Given the description of an element on the screen output the (x, y) to click on. 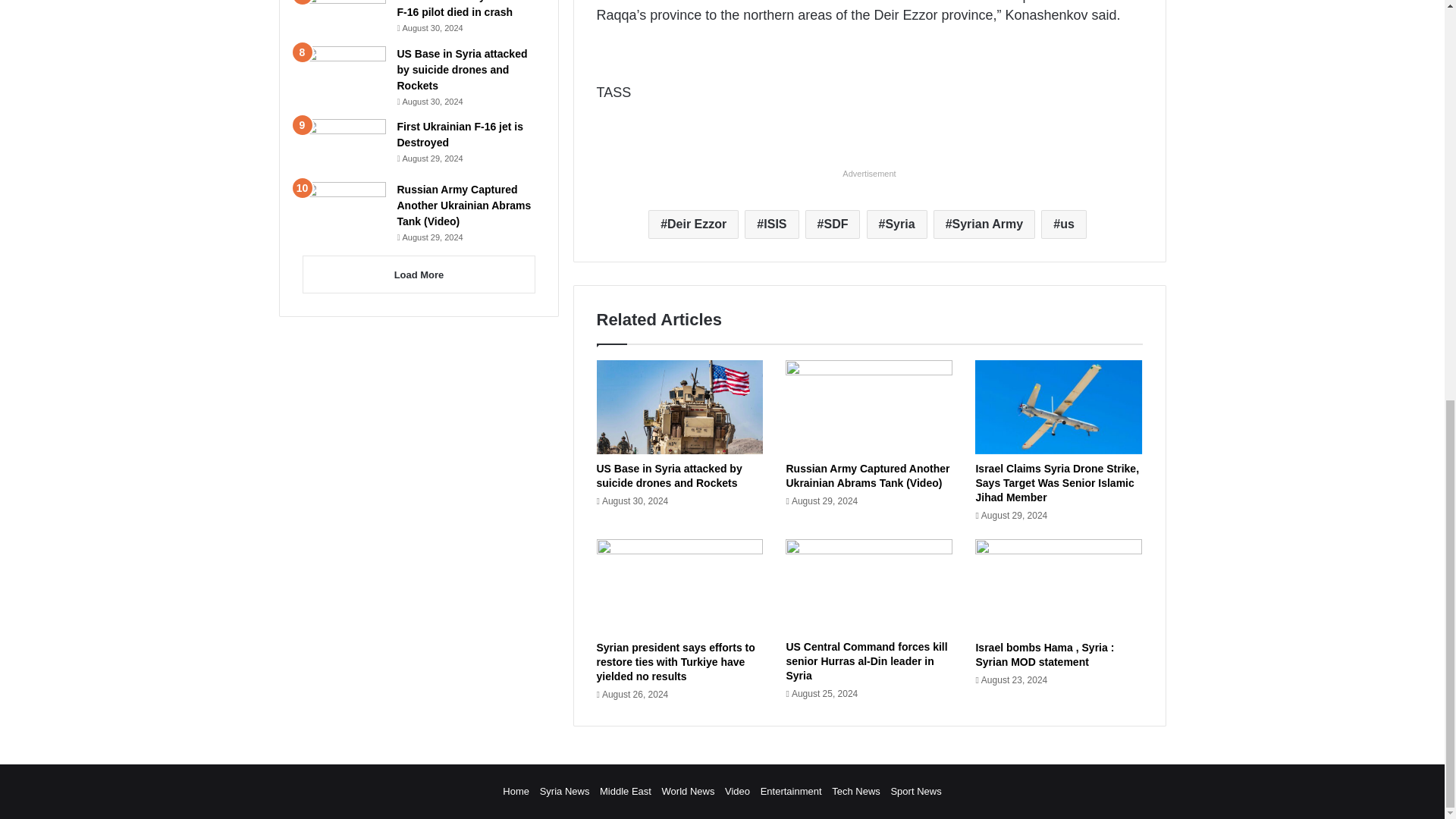
SDF (832, 224)
Deir Ezzor (692, 224)
Israel bombs Hama , Syria : Syrian MOD statement (1044, 654)
us (1063, 224)
US Base in Syria attacked by suicide drones and Rockets (668, 475)
Syrian Army (984, 224)
Syria (896, 224)
